Given the description of an element on the screen output the (x, y) to click on. 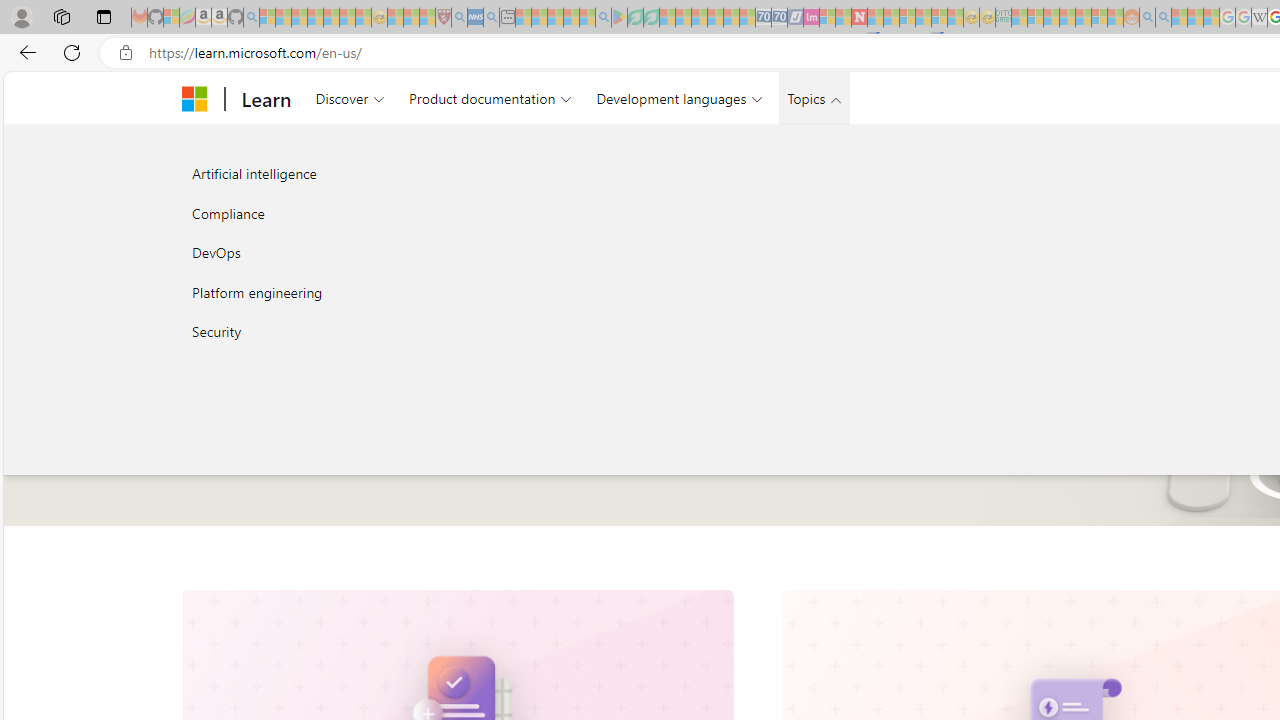
Artificial intelligence (394, 173)
Artificial intelligence (394, 173)
Learn (265, 98)
Development languages (679, 98)
